Given the description of an element on the screen output the (x, y) to click on. 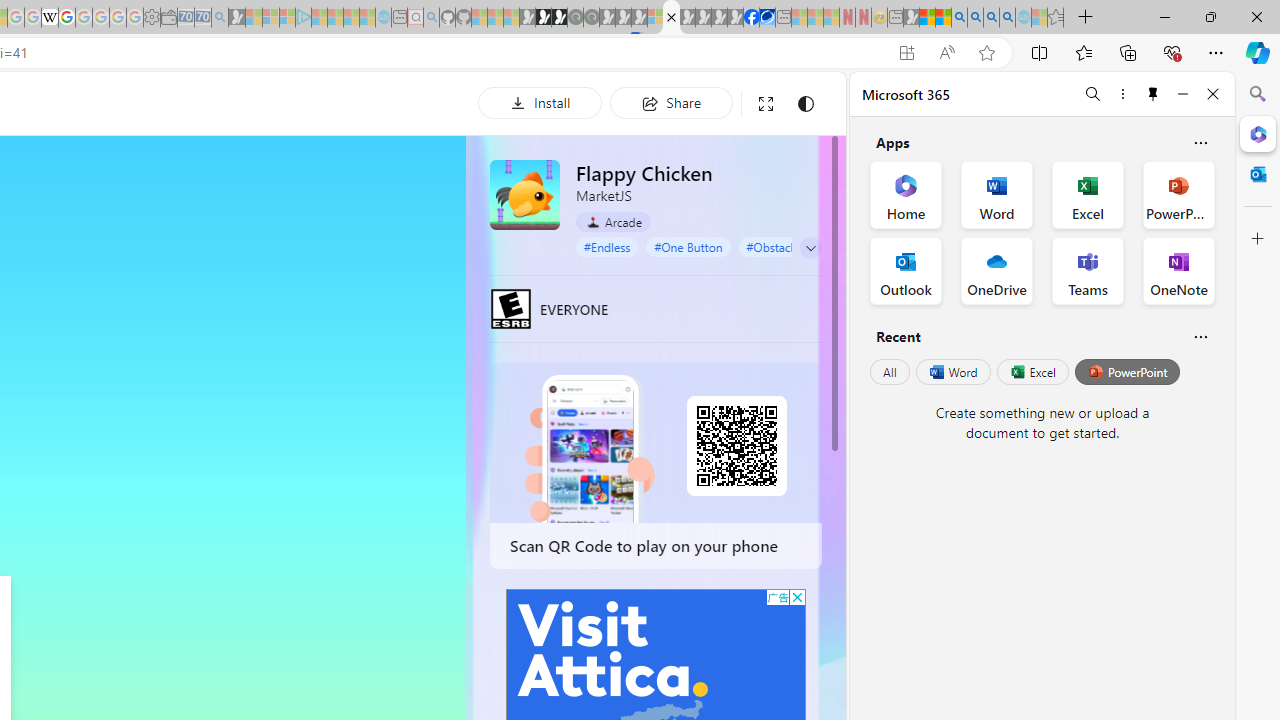
Close Customize pane (1258, 239)
Bing Real Estate - Home sales and rental listings - Sleeping (219, 17)
Is this helpful? (1200, 336)
Split screen (1039, 52)
Restore (1210, 16)
github - Search - Sleeping (431, 17)
Close (1213, 93)
